Given the description of an element on the screen output the (x, y) to click on. 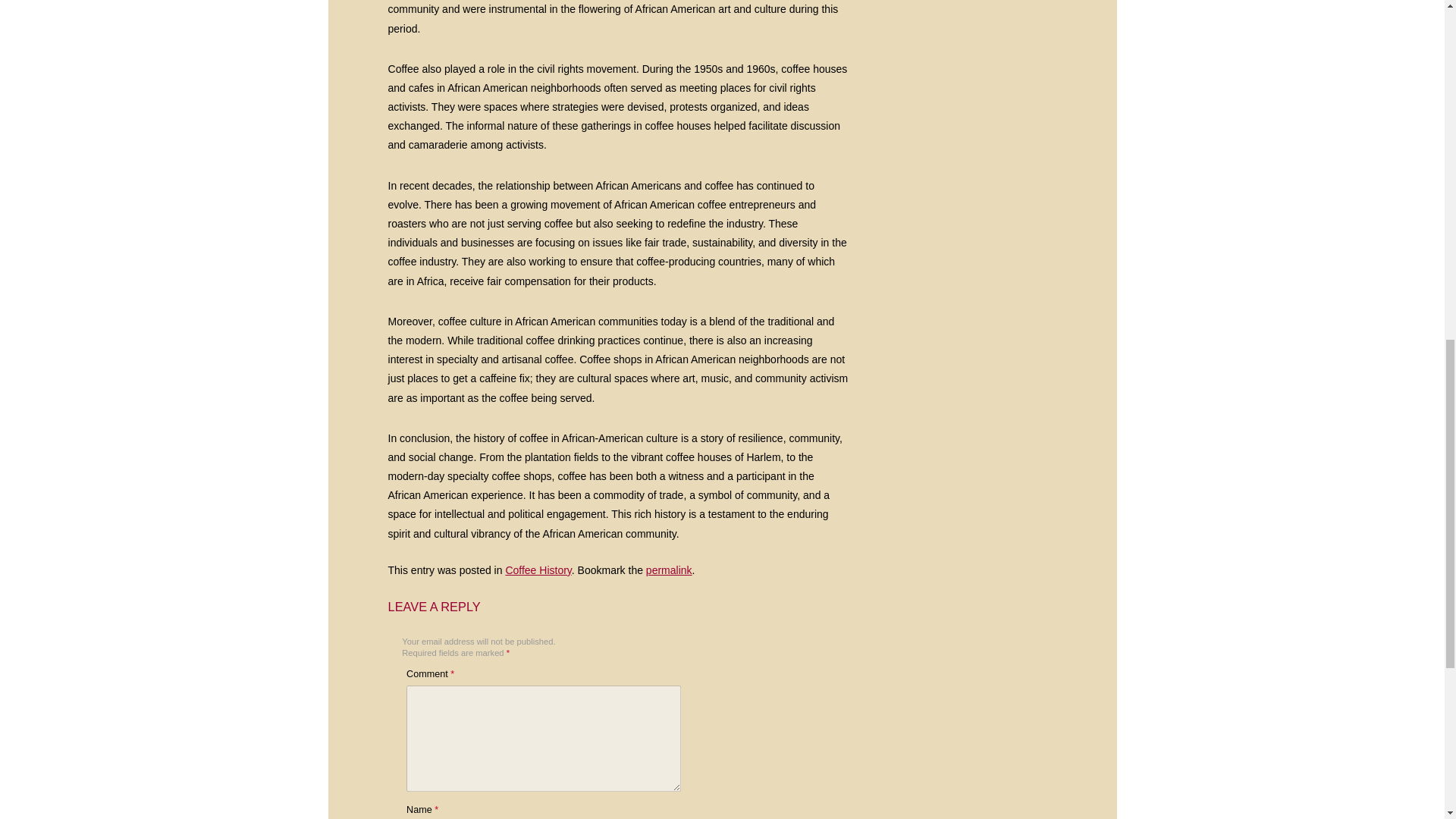
permalink (669, 570)
Coffee History (537, 570)
